Given the description of an element on the screen output the (x, y) to click on. 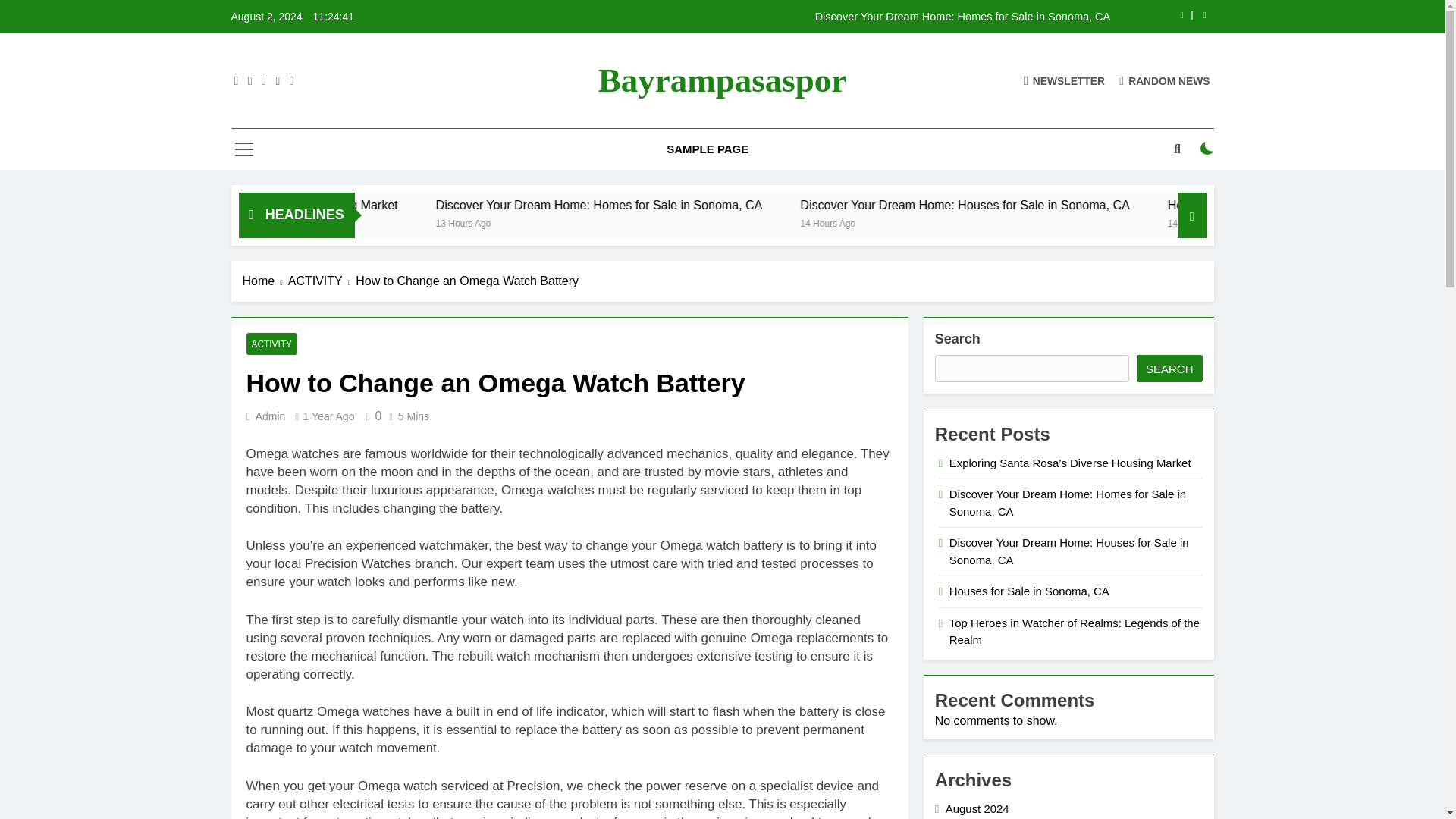
2 Hours Ago (1170, 222)
52 Mins Ago (957, 222)
NEWSLETTER (1064, 80)
Understanding Performance Surety Bonds (817, 16)
41 Mins Ago (695, 222)
on (1206, 148)
9 Mins Ago (350, 222)
RANDOM NEWS (1164, 80)
Understanding Performance Surety Bonds (738, 205)
SAMPLE PAGE (707, 148)
